Given the description of an element on the screen output the (x, y) to click on. 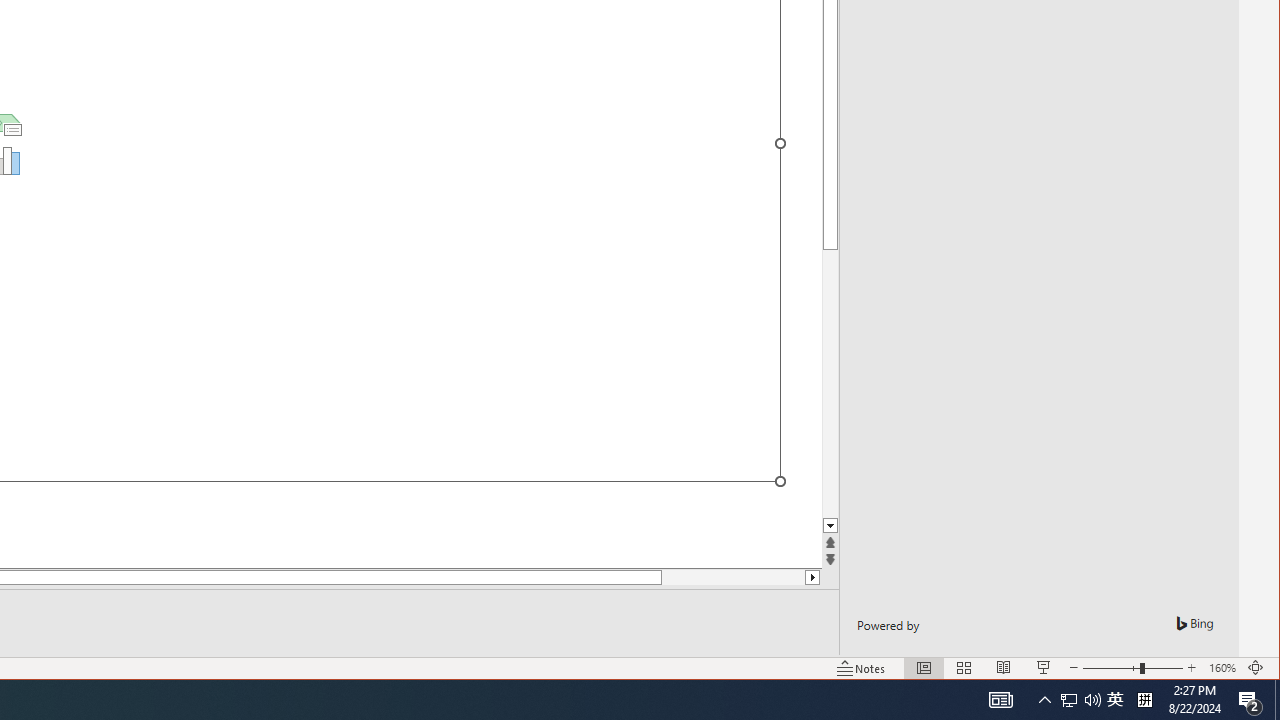
Tray Input Indicator - Chinese (Simplified, China) (1144, 699)
Notification Chevron (1044, 699)
AutomationID: 4105 (1000, 699)
User Promoted Notification Area (1080, 699)
Zoom (1132, 668)
Zoom Out (1111, 668)
